Given the description of an element on the screen output the (x, y) to click on. 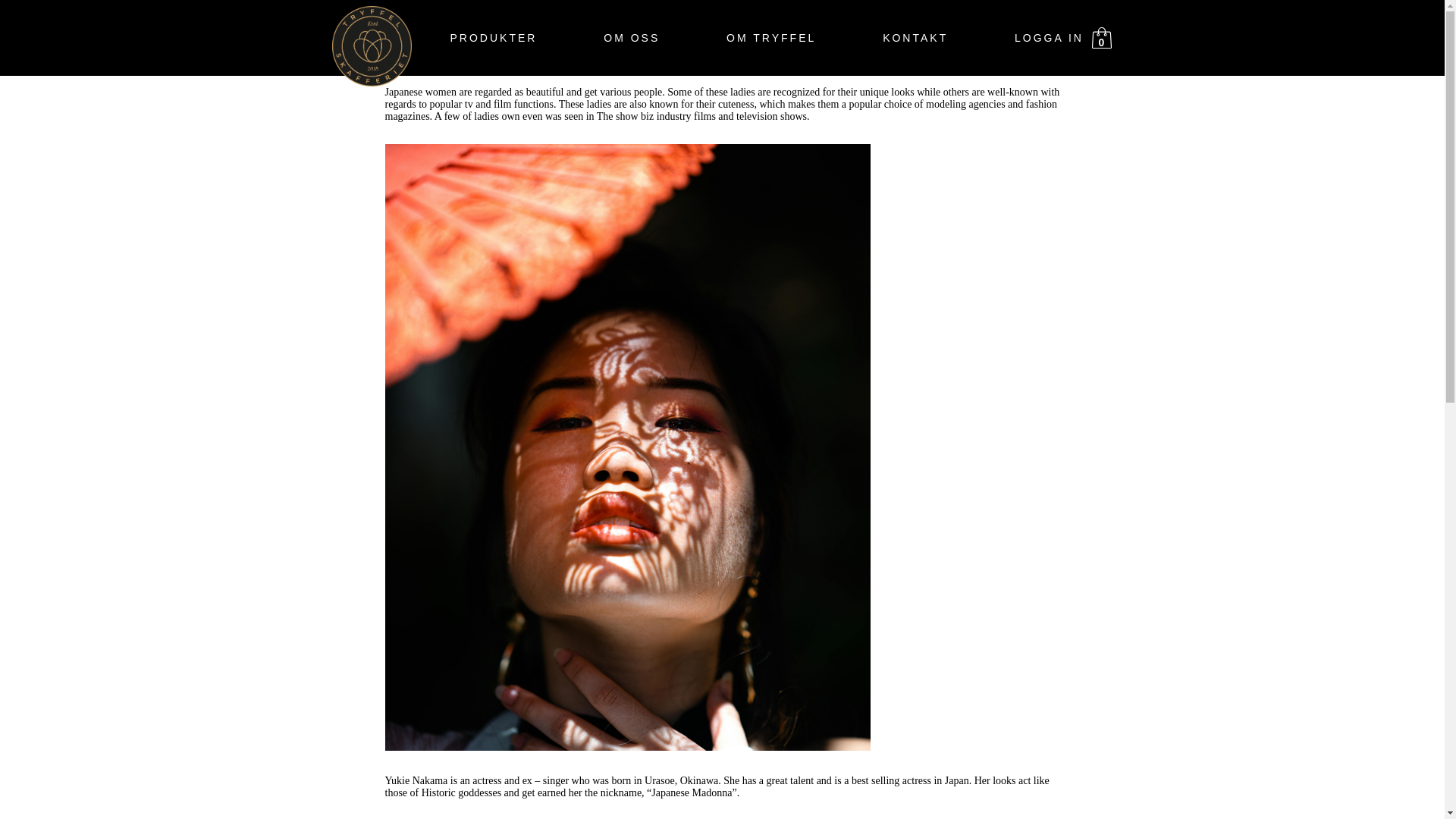
OM OSS (631, 37)
LOGGA IN (1048, 37)
OM TRYFFEL (770, 37)
0 (1101, 37)
KONTAKT (914, 37)
PRODUKTER (493, 37)
